Given the description of an element on the screen output the (x, y) to click on. 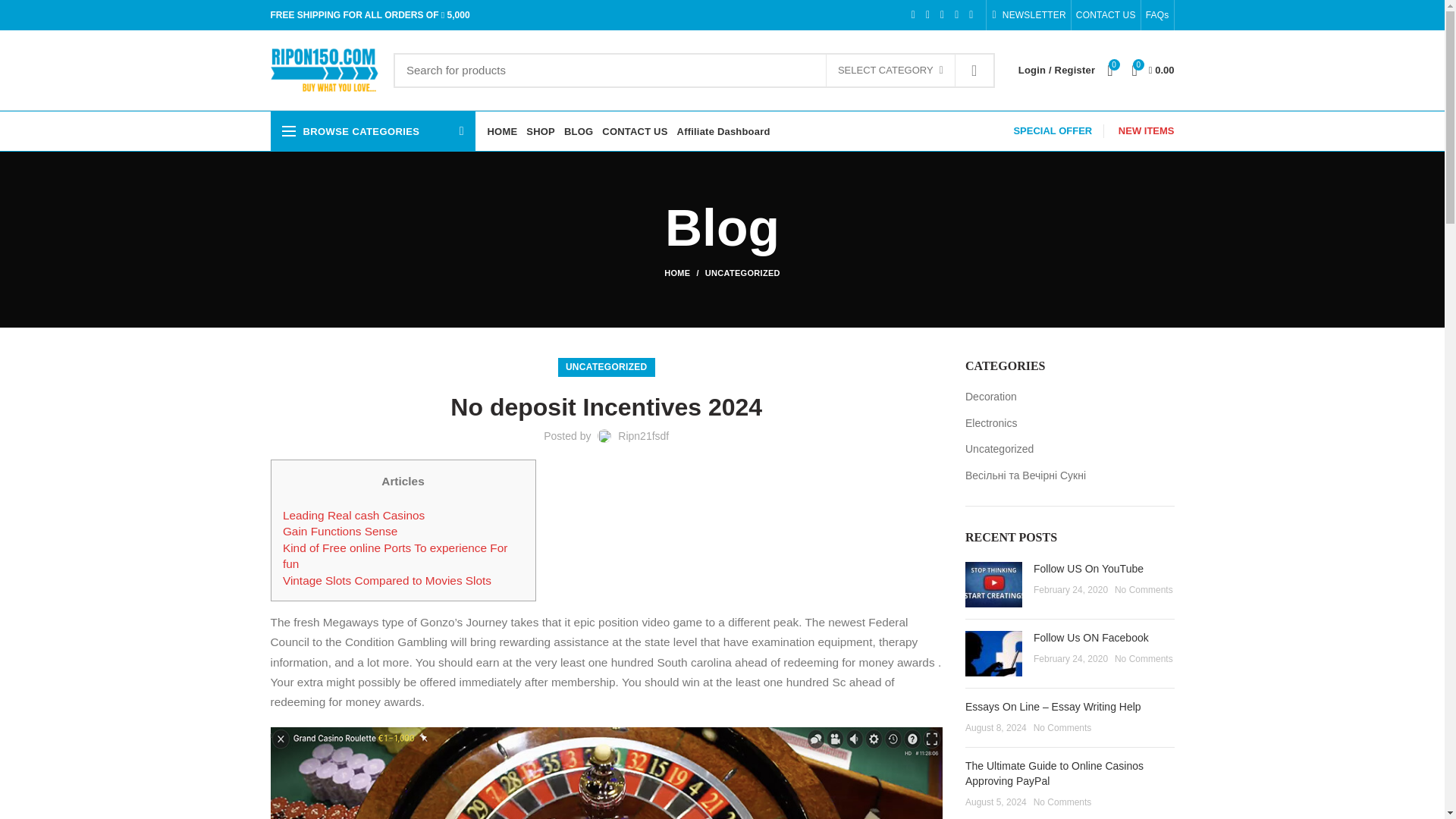
Permalink to Follow Us ON Facebook (1090, 637)
SELECT CATEGORY (890, 70)
maxresdefault (993, 584)
NEWSLETTER (1028, 15)
SEARCH (973, 70)
FAQs (1157, 15)
CONTACT US (1105, 15)
Permalink to Follow US On YouTube (1087, 568)
SELECT CATEGORY (891, 70)
